Given the description of an element on the screen output the (x, y) to click on. 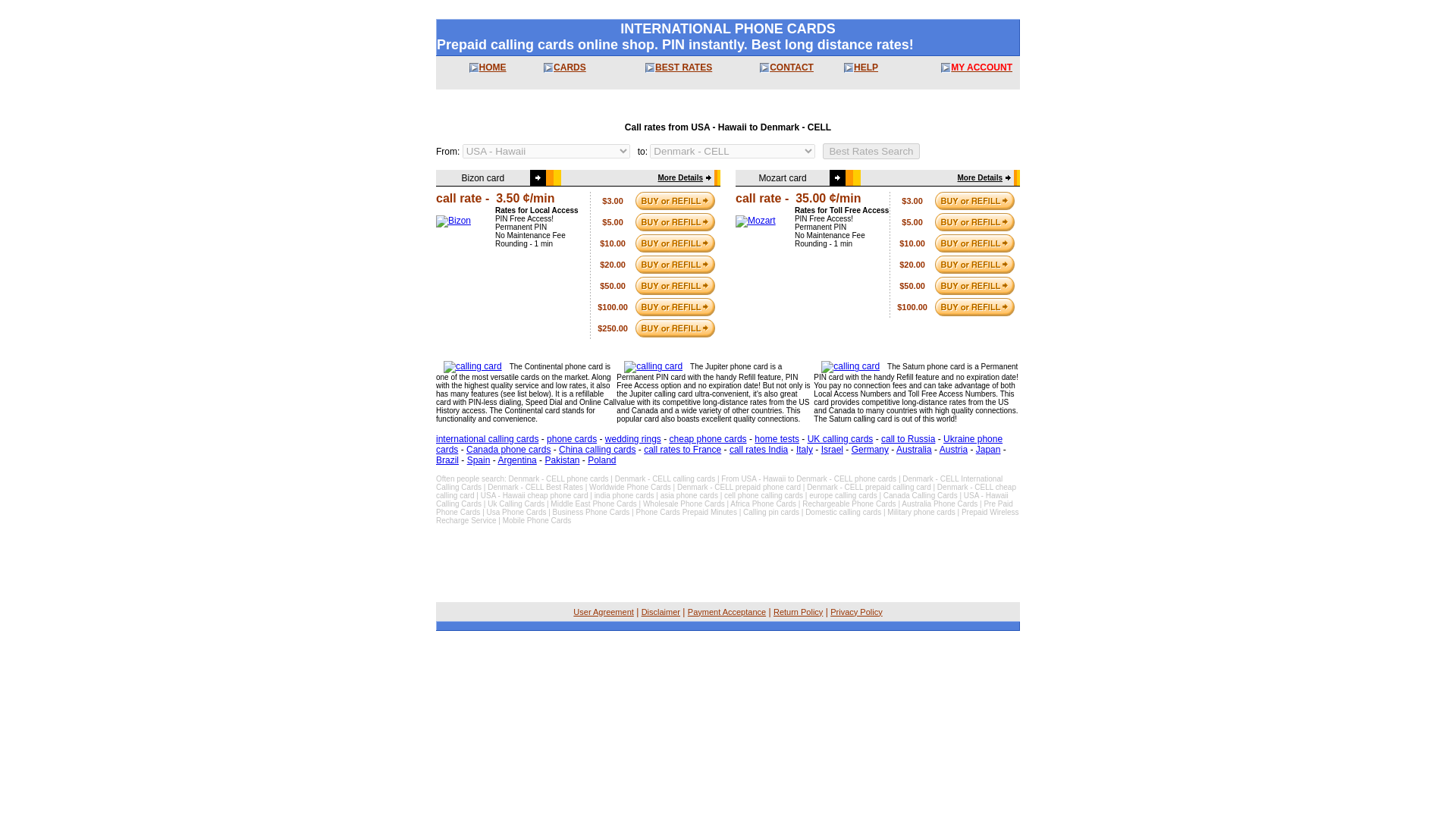
Pakistan (561, 460)
More Details (980, 177)
Spain (478, 460)
Italy (804, 449)
call rates India (758, 449)
international calling cards (486, 439)
HELP (865, 67)
wedding rings (633, 439)
UK calling cards (840, 439)
MY ACCOUNT (980, 67)
